Given the description of an element on the screen output the (x, y) to click on. 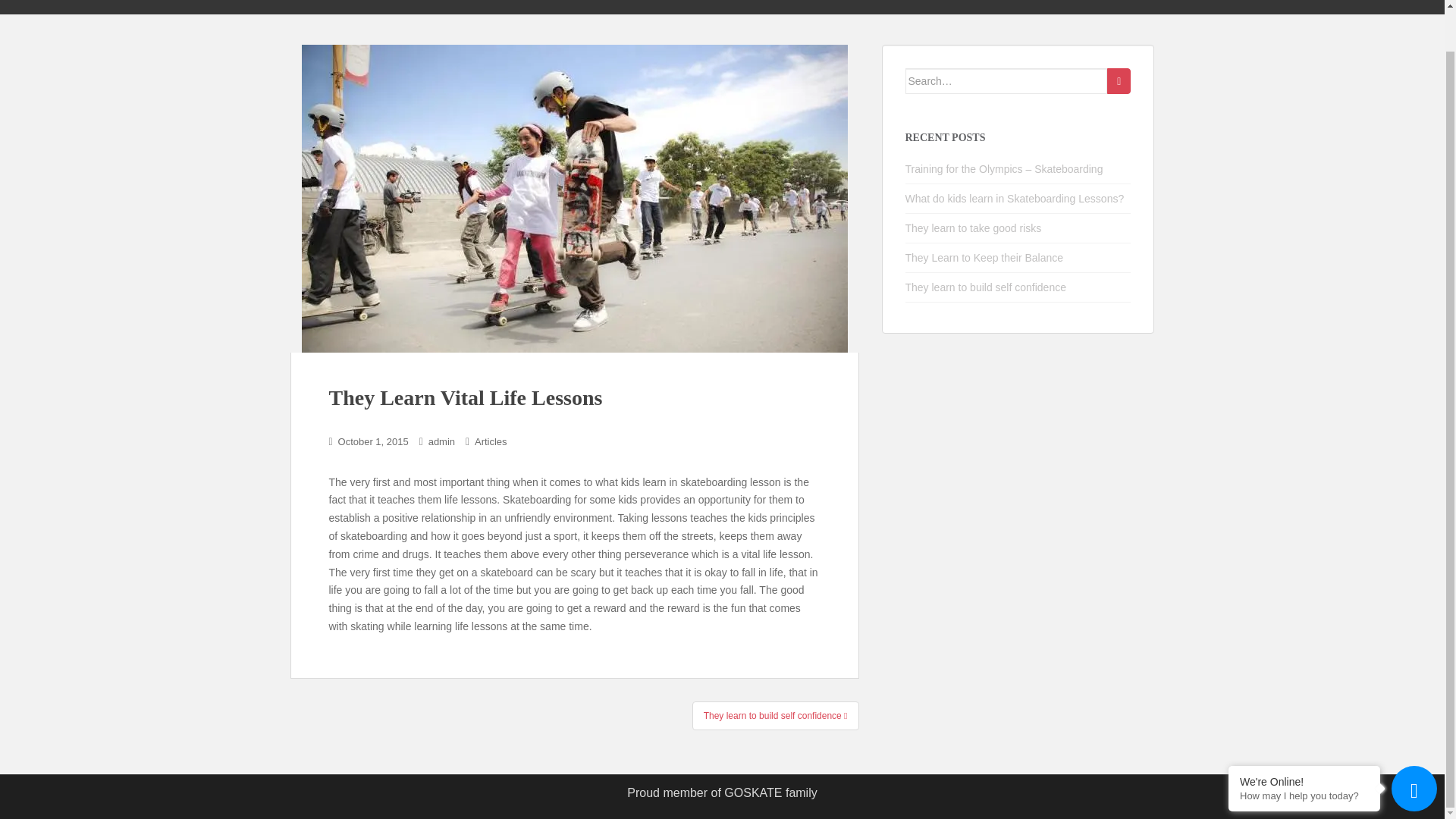
HOME (973, 7)
Search (1118, 80)
Contact Us (1103, 7)
CONTACT US (1103, 7)
What do kids learn in Skateboarding Lessons? (1014, 198)
Home (973, 7)
Proud member of GOSKATE family (721, 792)
How may I help you today? (1304, 752)
They learn to build self confidence (776, 715)
They learn to take good risks (973, 227)
